Given the description of an element on the screen output the (x, y) to click on. 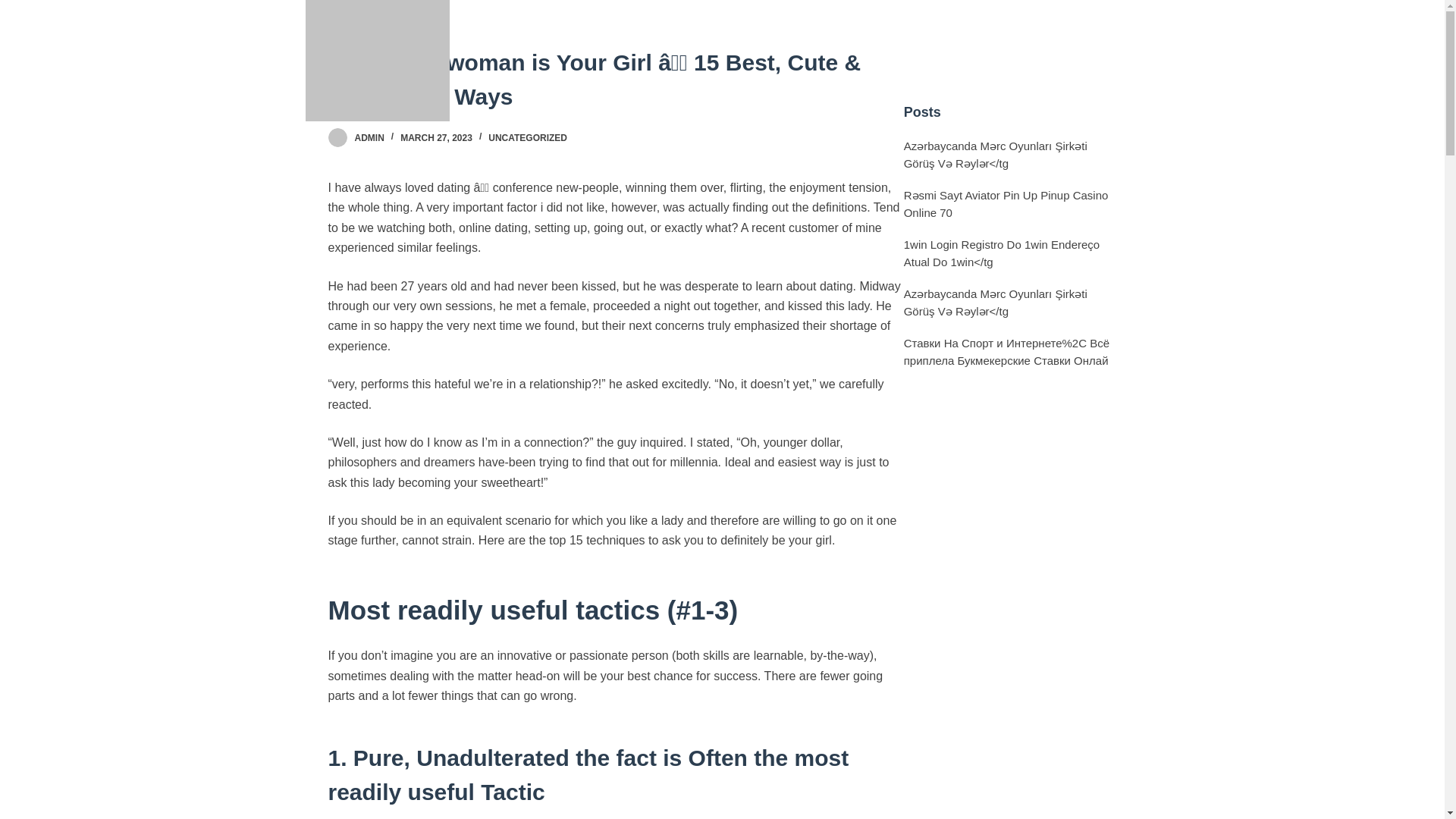
Posts by Admin (369, 137)
HOW IT WORKS (933, 49)
OUR COMPANY (815, 49)
ADMIN (369, 137)
Skip to content (15, 7)
UNCATEGORIZED (527, 137)
